Given the description of an element on the screen output the (x, y) to click on. 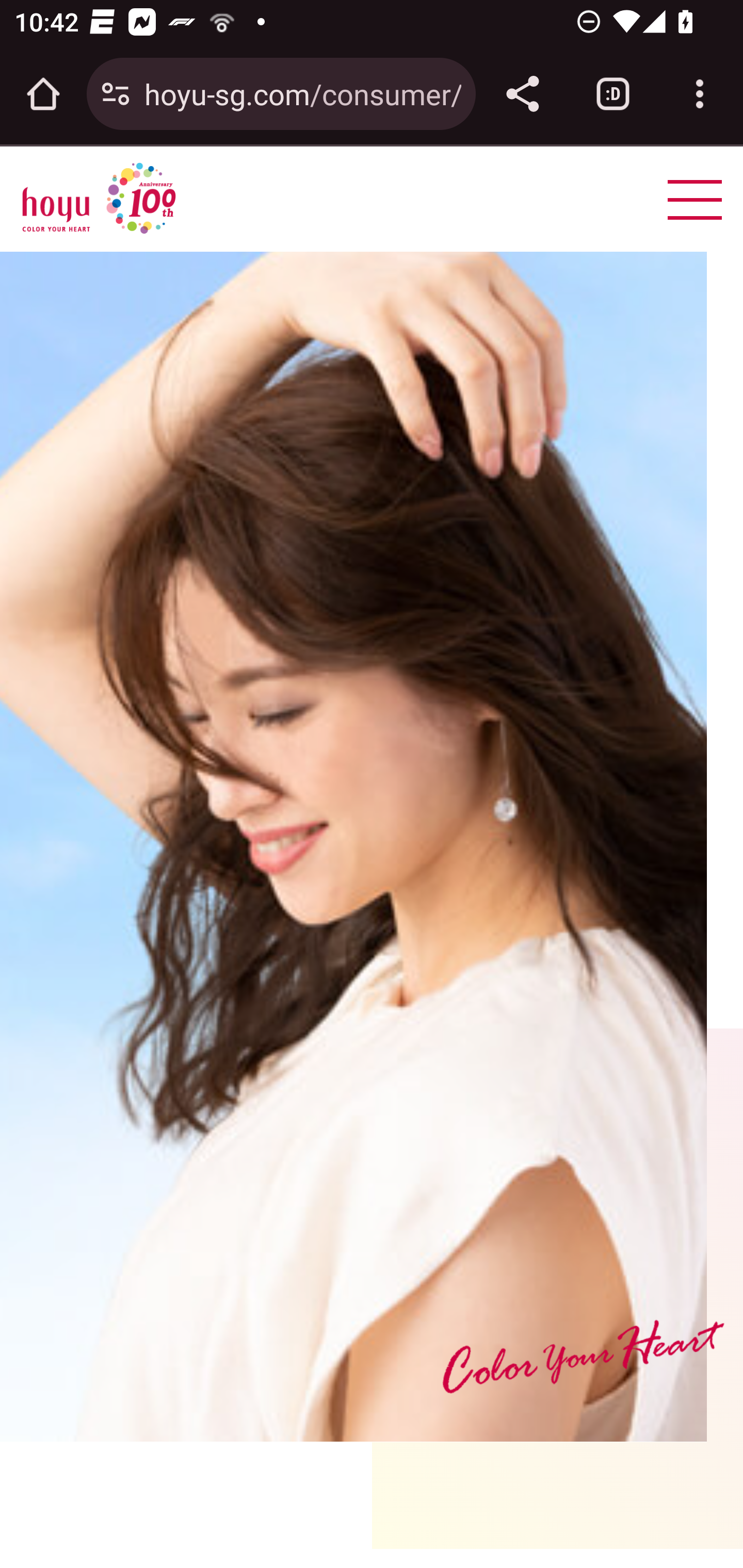
Open the home page (43, 93)
Connection is secure (115, 93)
Share (522, 93)
Switch or close tabs (612, 93)
Customize and control Google Chrome (699, 93)
hoyu-sg.com/consumer/index (302, 92)
hoyu Singapore (98, 199)
